Given the description of an element on the screen output the (x, y) to click on. 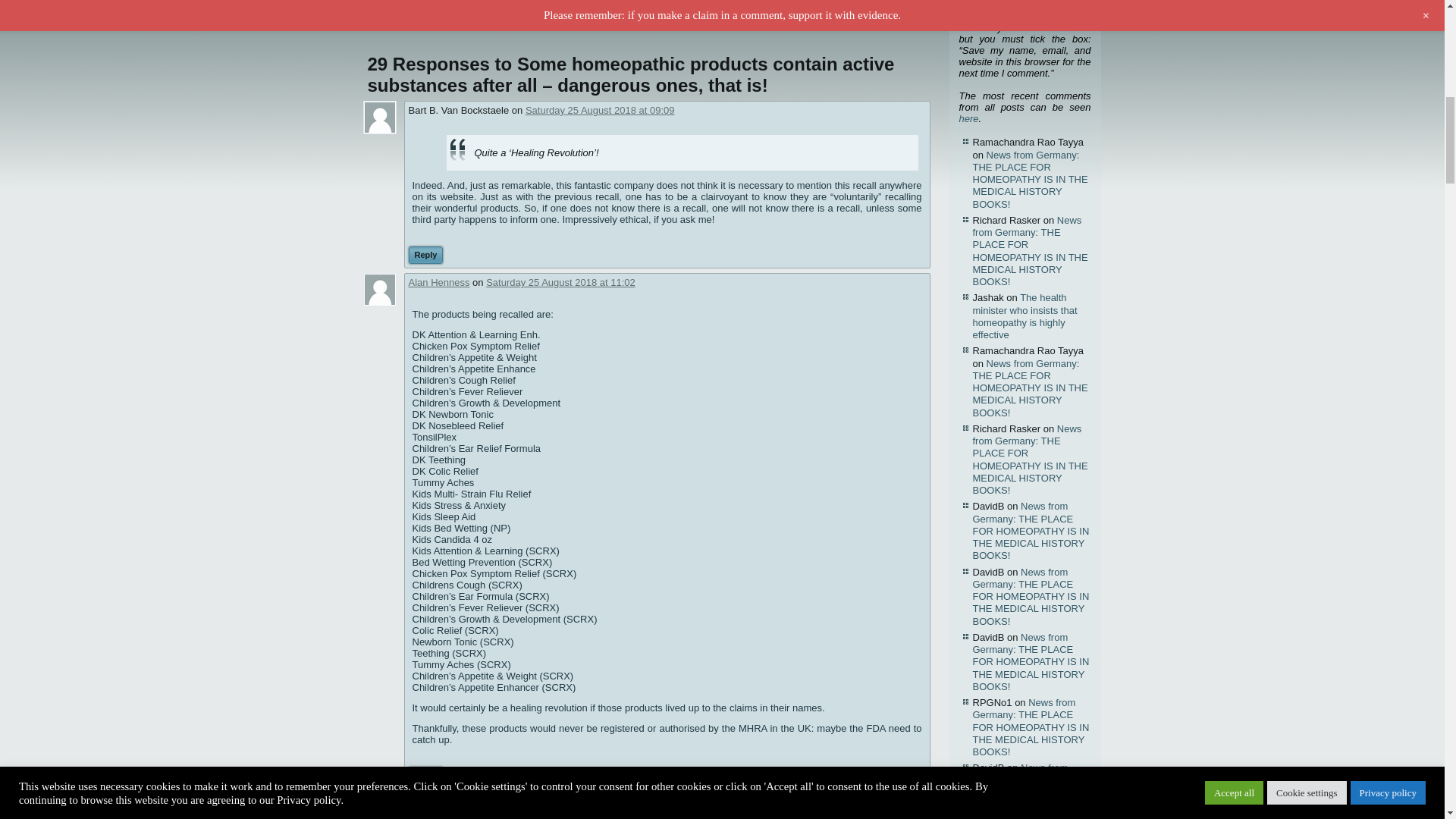
regulation (648, 20)
alternative medicine (456, 20)
homeopathy (602, 20)
satire (699, 20)
Alan Henness (437, 282)
Saturday 25 August 2018 at 09:09 (600, 110)
Reply (424, 254)
Saturday 25 August 2018 at 11:20 (539, 802)
commercial interests (536, 20)
risk (677, 20)
Reply (424, 774)
Saturday 25 August 2018 at 11:02 (560, 282)
